Given the description of an element on the screen output the (x, y) to click on. 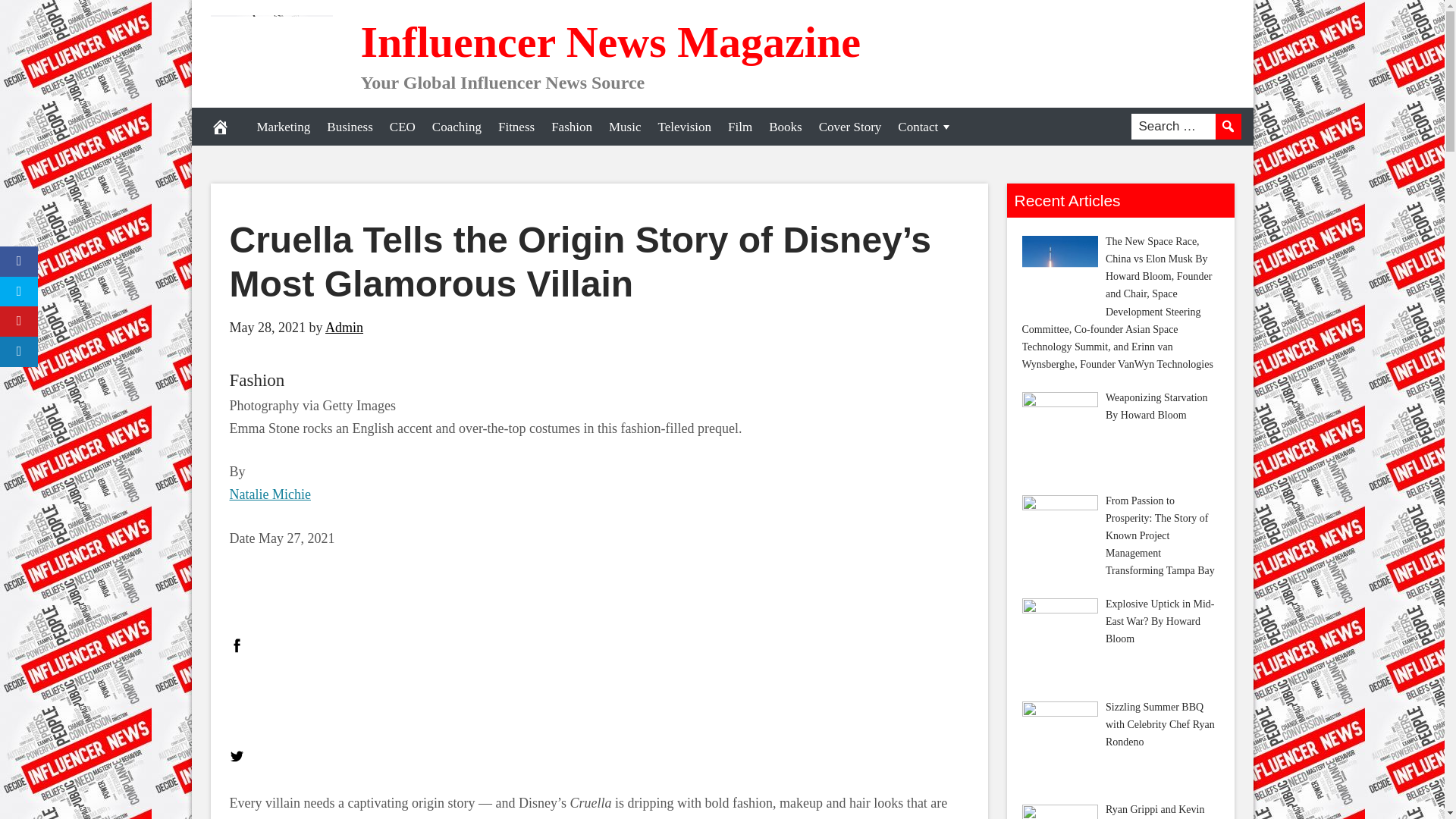
Fashion (571, 126)
Business (349, 126)
Music (624, 126)
Coaching (456, 126)
Marketing (283, 126)
Contact (924, 126)
Influencer News Magazine (610, 41)
Fitness (516, 126)
Fashion (255, 380)
Television (684, 126)
CEO (402, 126)
Cover Story (849, 126)
Books (784, 126)
Film (739, 126)
